Given the description of an element on the screen output the (x, y) to click on. 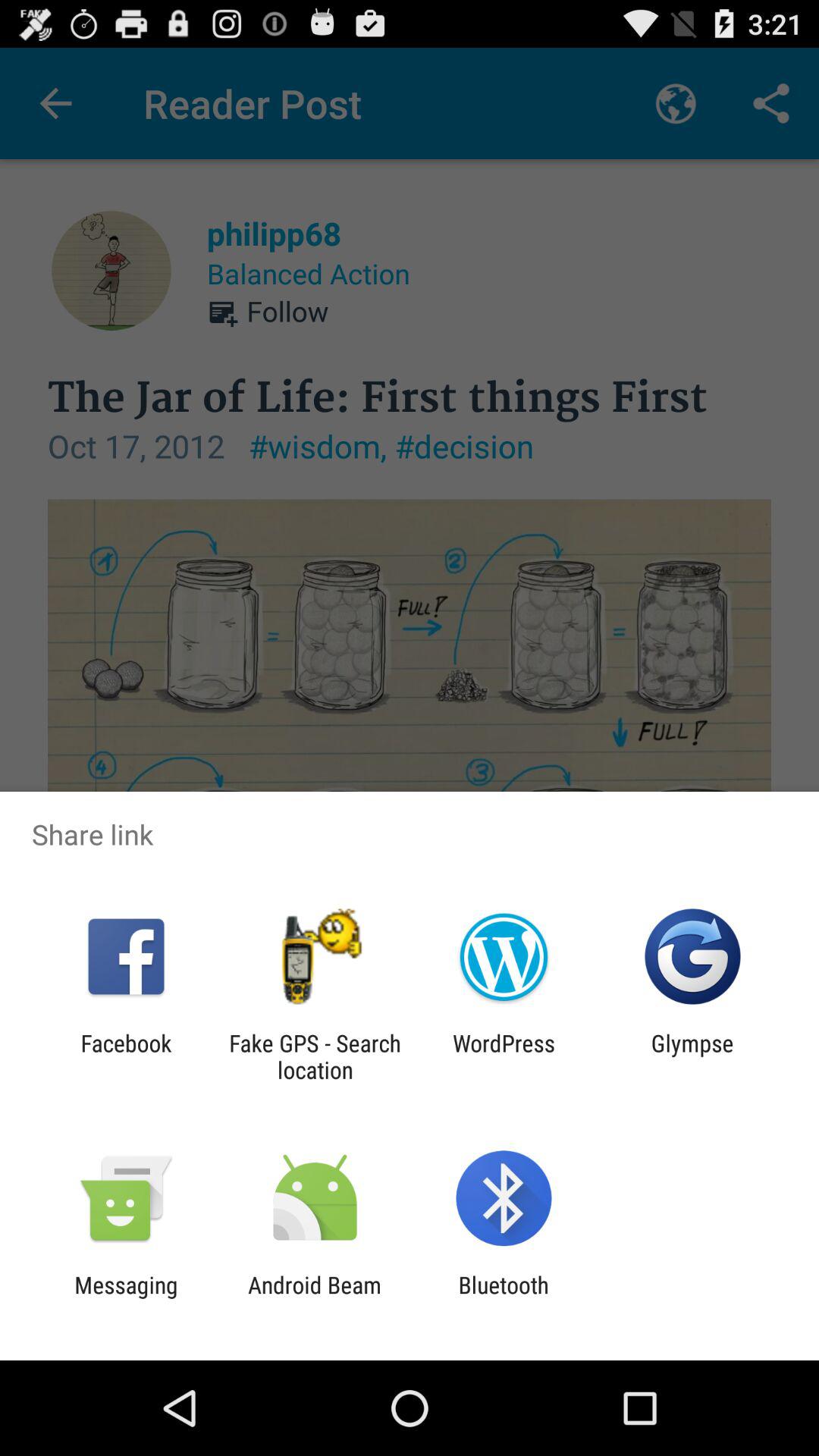
choose wordpress app (503, 1056)
